Given the description of an element on the screen output the (x, y) to click on. 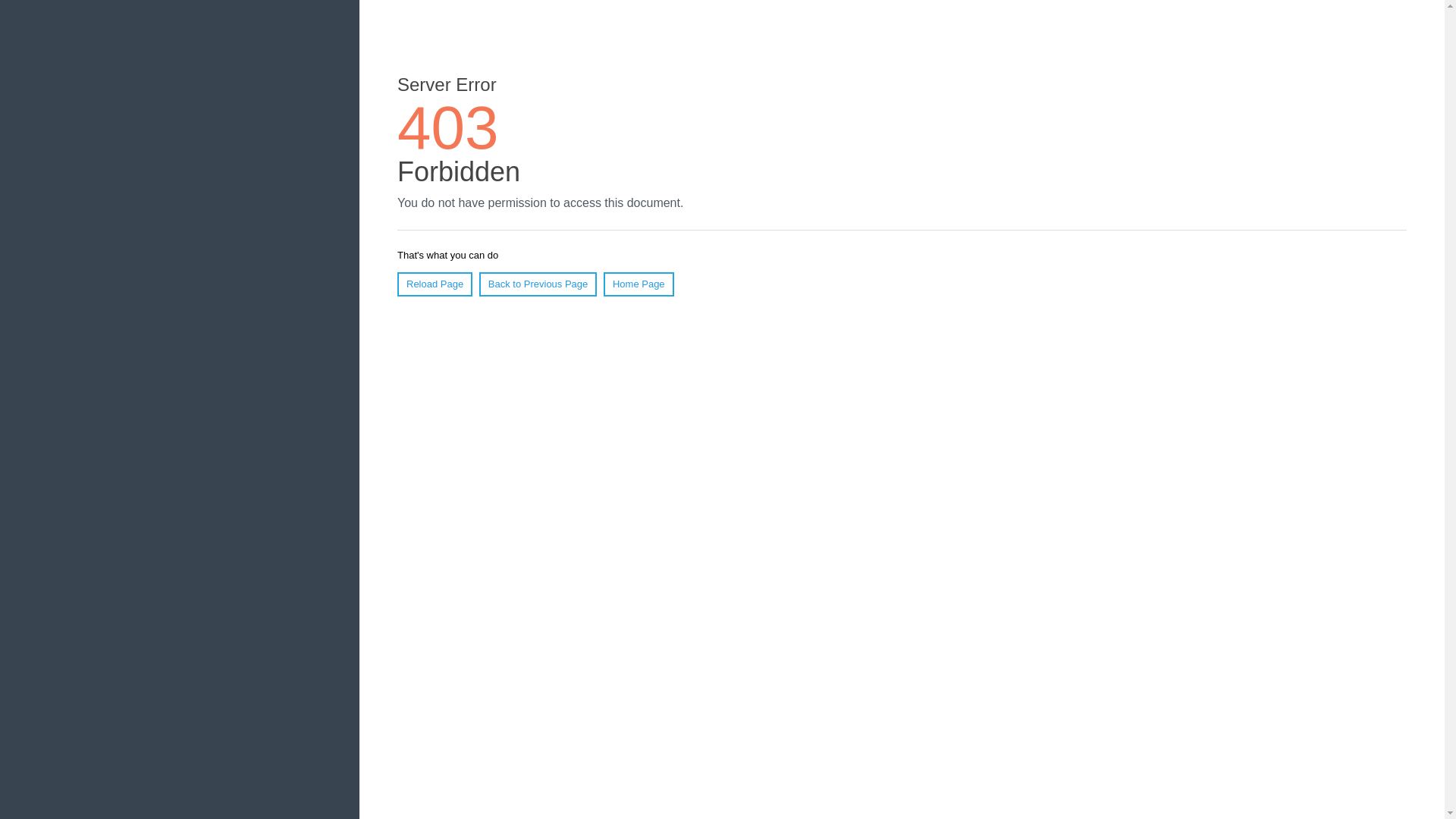
Home Page (639, 283)
Reload Page (434, 283)
Back to Previous Page (537, 283)
